Given the description of an element on the screen output the (x, y) to click on. 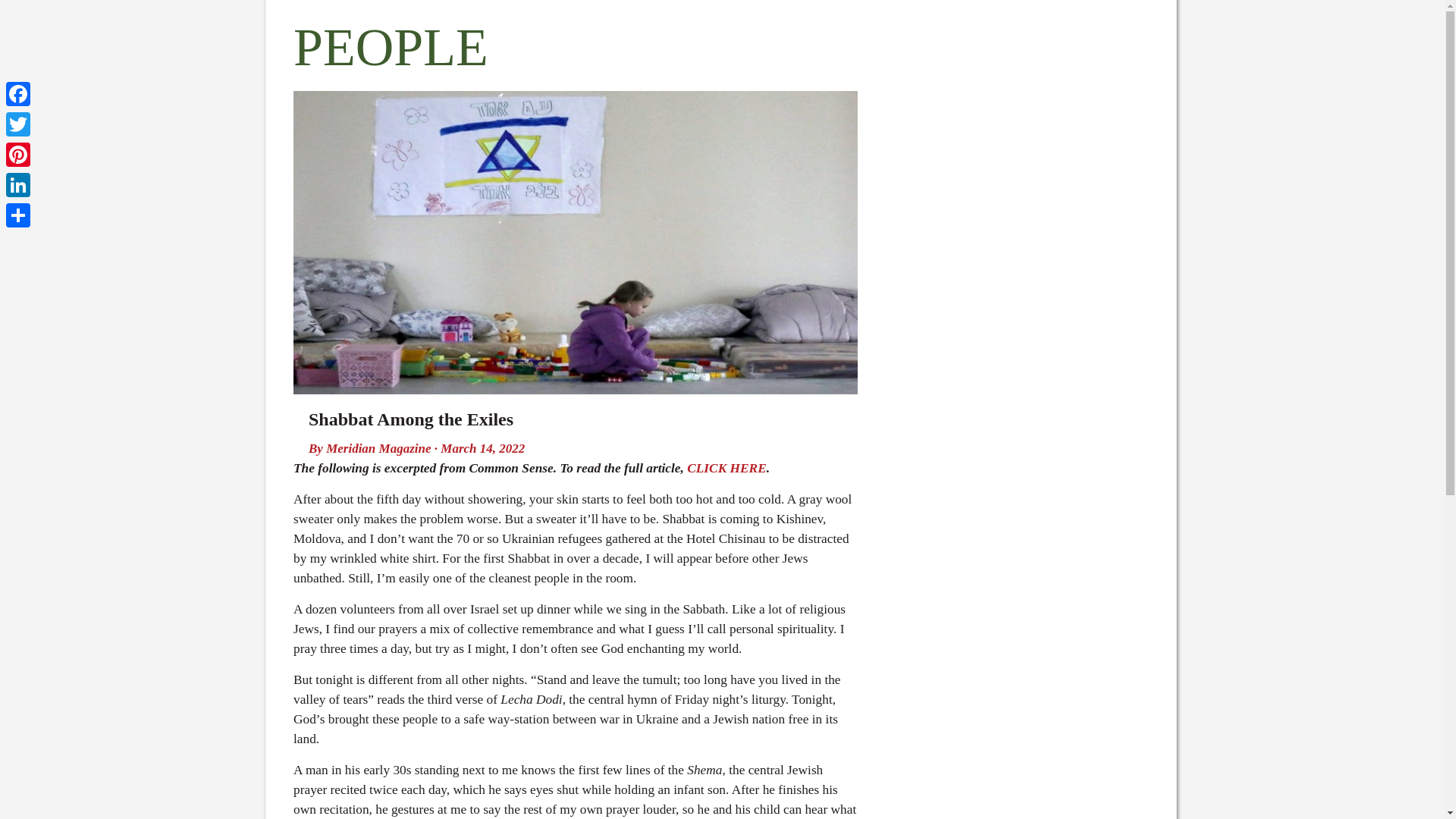
LinkedIn (17, 184)
Pinterest (17, 154)
Twitter (17, 123)
Facebook (17, 93)
